Given the description of an element on the screen output the (x, y) to click on. 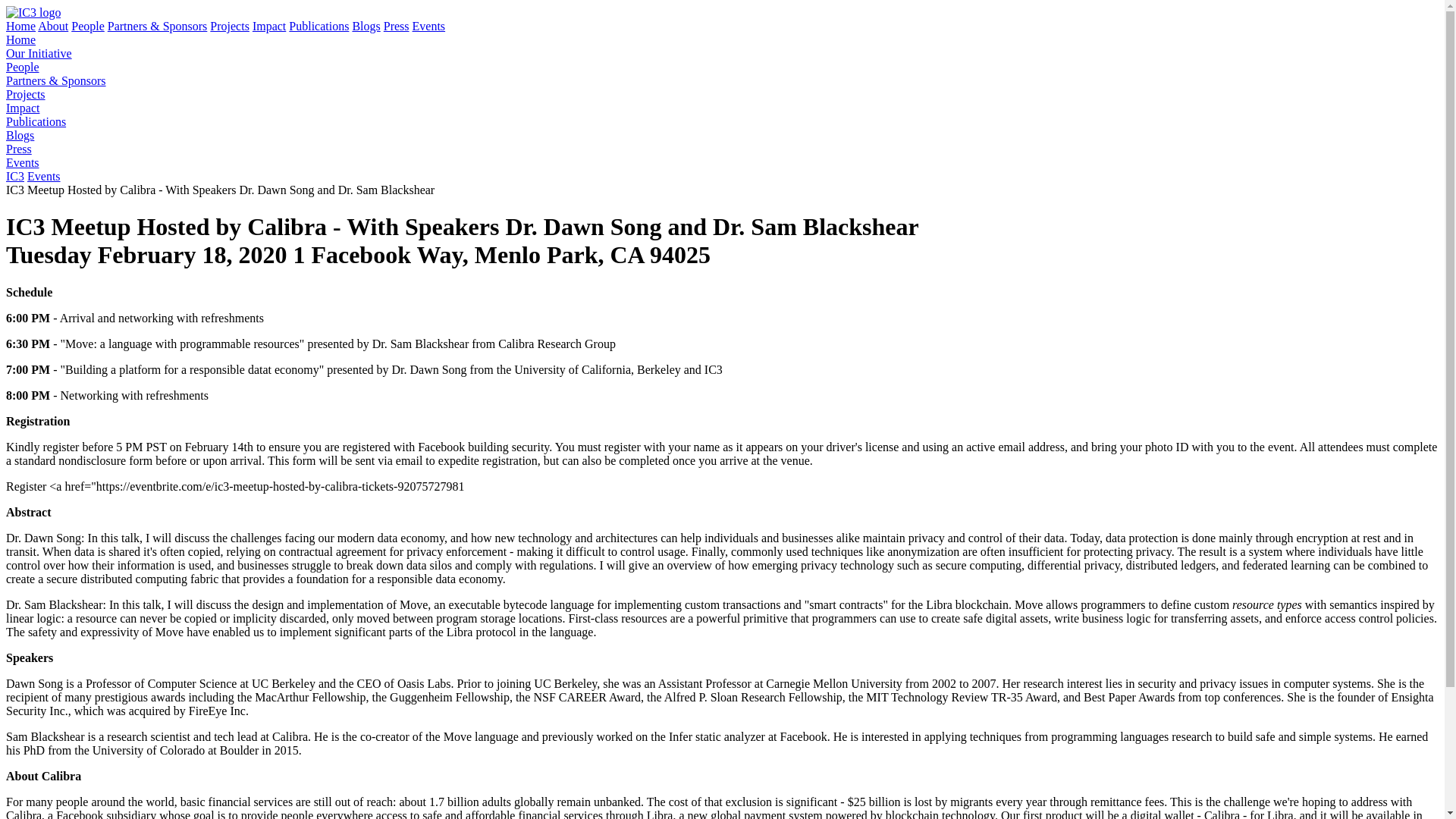
Our Initiative (38, 52)
Projects (25, 93)
Blogs (19, 134)
Publications (318, 25)
About (52, 25)
Events (428, 25)
Home (19, 25)
Events (44, 175)
Impact (22, 107)
Home (19, 39)
Press (396, 25)
Publications (35, 121)
People (87, 25)
Projects (228, 25)
People (22, 66)
